Given the description of an element on the screen output the (x, y) to click on. 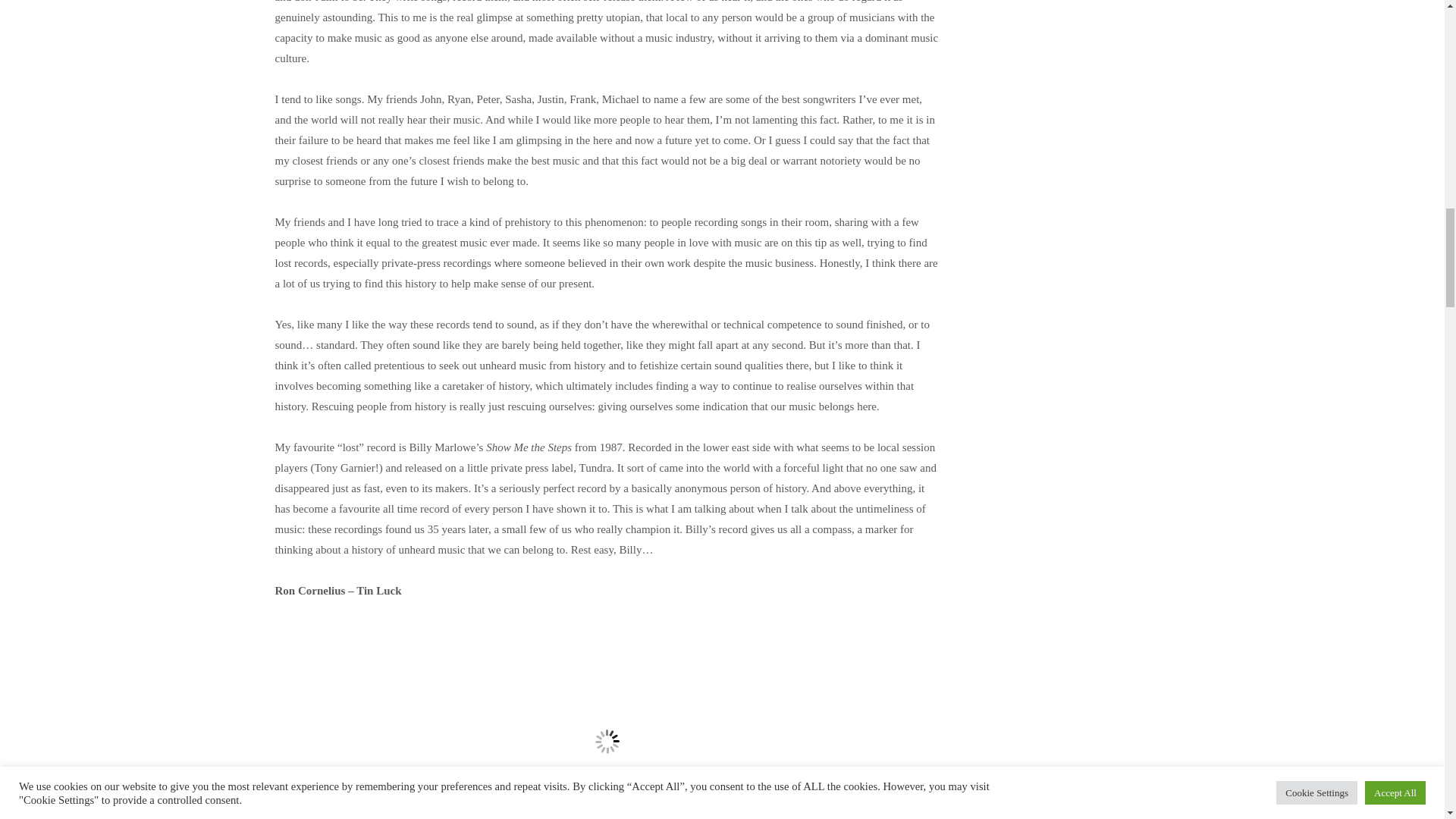
YouTube video player (607, 720)
